Given the description of an element on the screen output the (x, y) to click on. 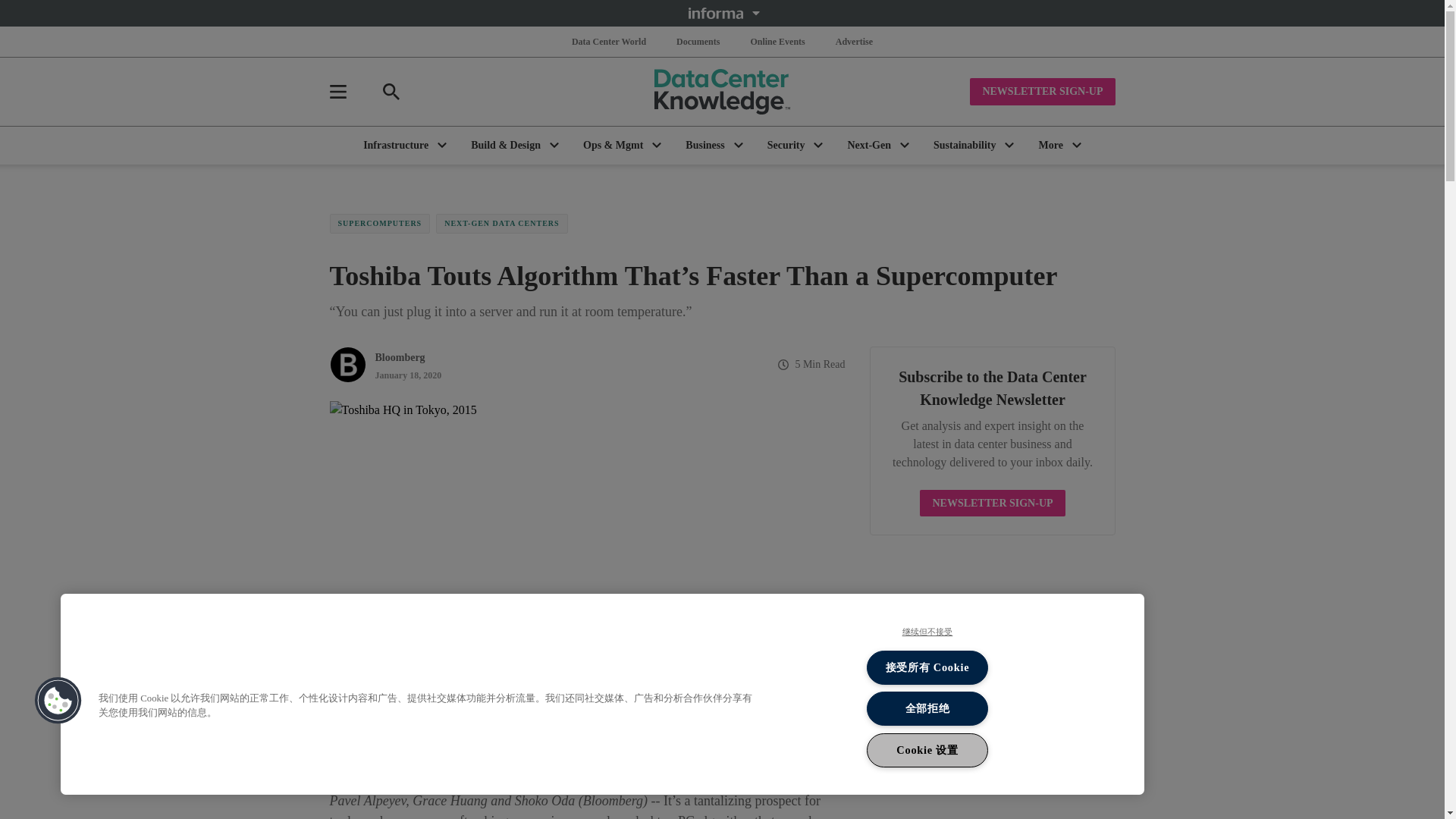
Data Center Knowledge Logo (721, 91)
Cookies Button (57, 700)
Online Events (777, 41)
Documents (697, 41)
NEWSLETTER SIGN-UP (1042, 90)
Advertise (854, 41)
Data Center World (609, 41)
